Given the description of an element on the screen output the (x, y) to click on. 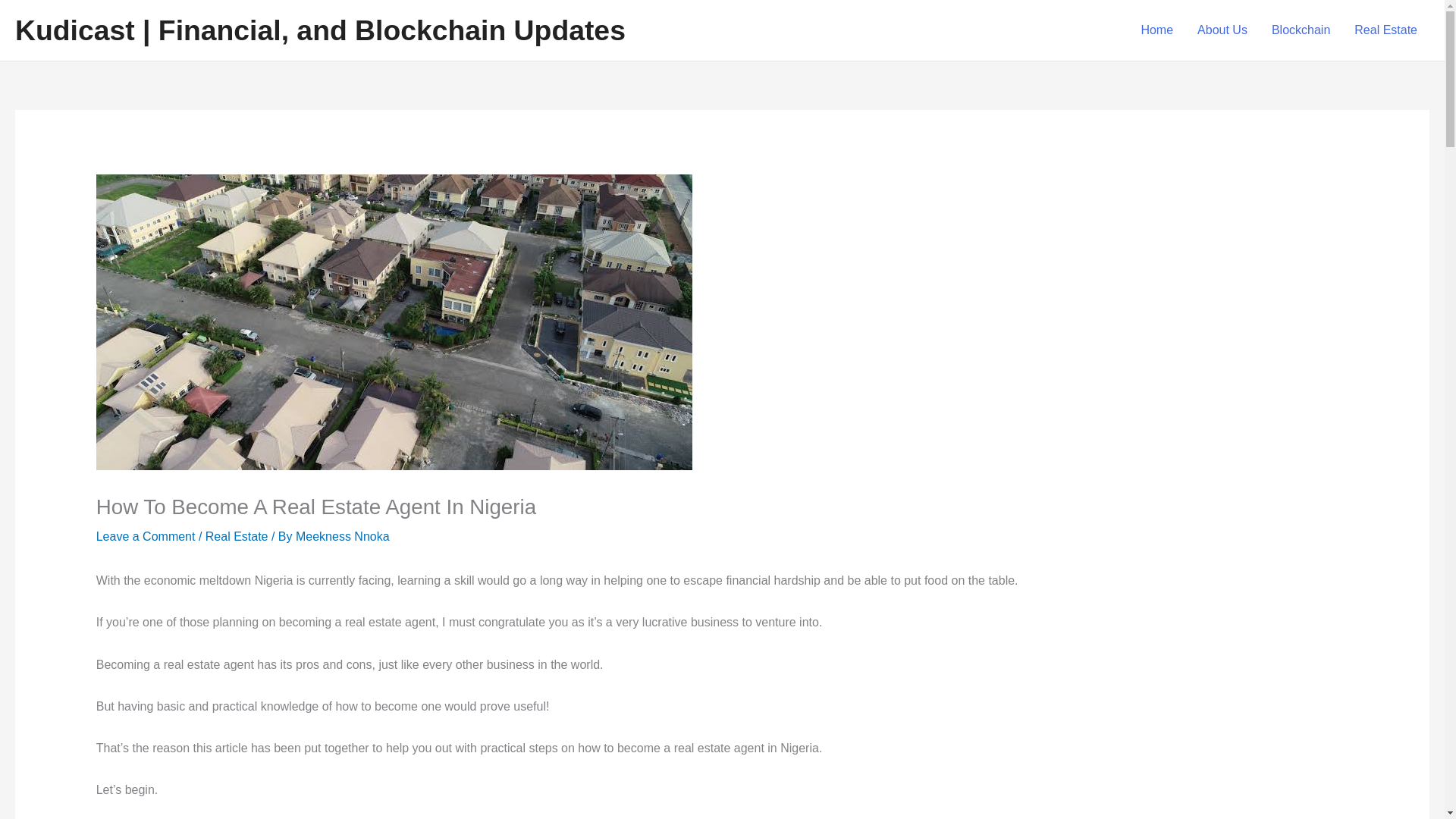
Real Estate (236, 535)
Meekness Nnoka (342, 535)
About Us (1222, 30)
Leave a Comment (145, 535)
Blockchain (1300, 30)
View all posts by Meekness Nnoka (342, 535)
Real Estate (1385, 30)
Home (1156, 30)
